Given the description of an element on the screen output the (x, y) to click on. 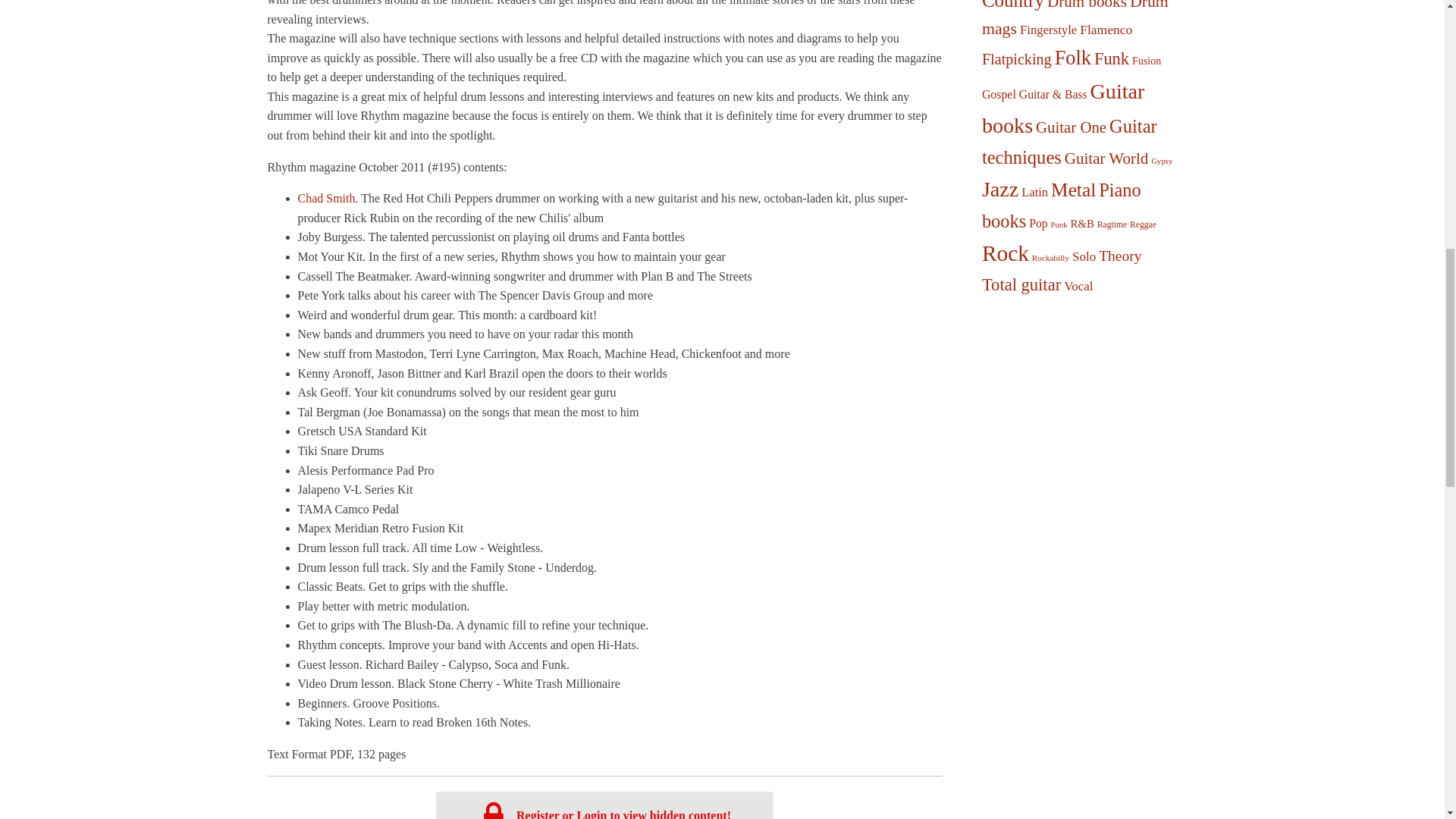
Country (1012, 5)
Chad Smith (326, 197)
Drum mags (1075, 18)
Flamenco (1106, 29)
Drum books (1086, 5)
Flatpicking (1016, 58)
Fingerstyle (1048, 29)
